Given the description of an element on the screen output the (x, y) to click on. 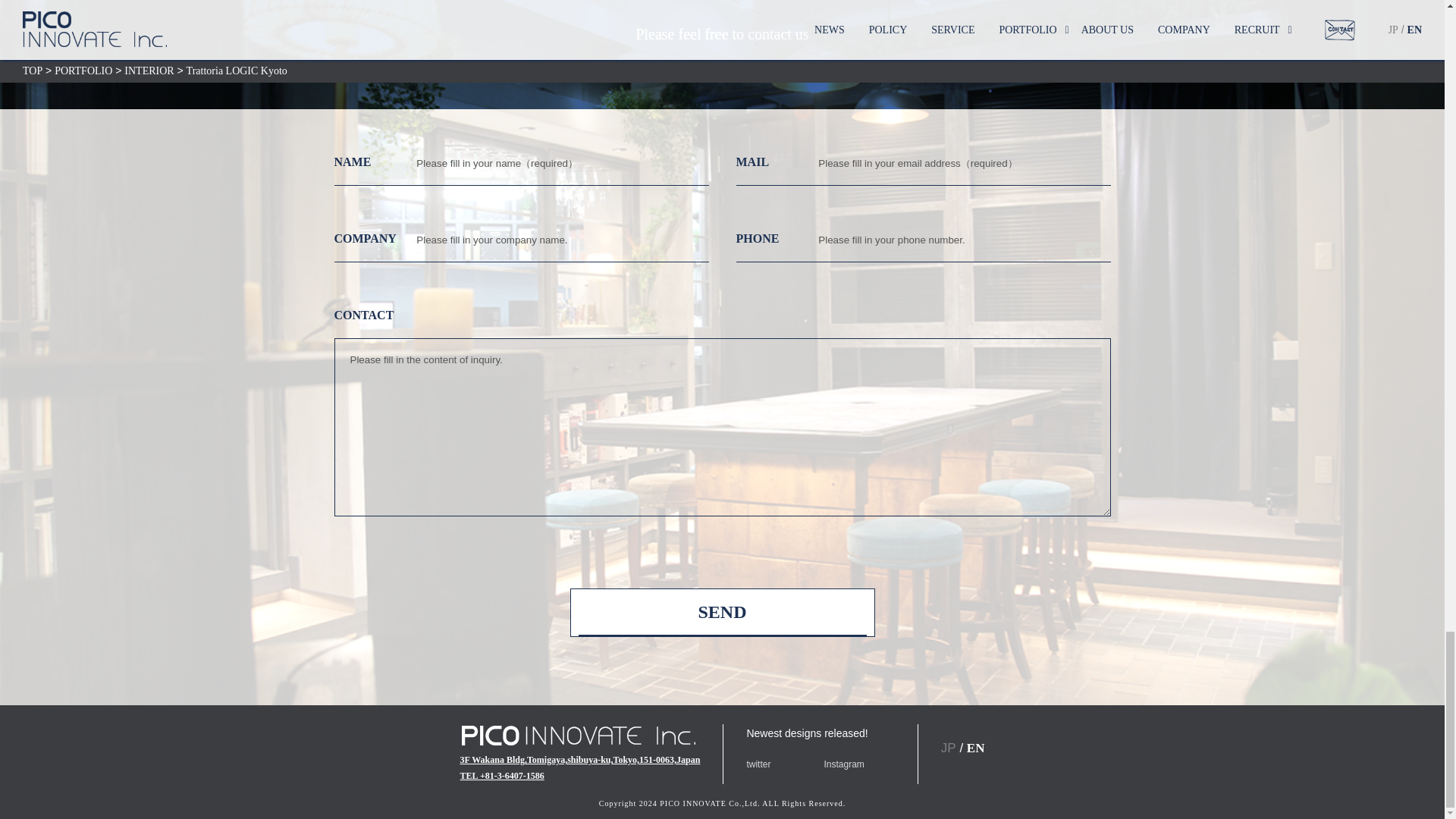
SEND (721, 612)
